Given the description of an element on the screen output the (x, y) to click on. 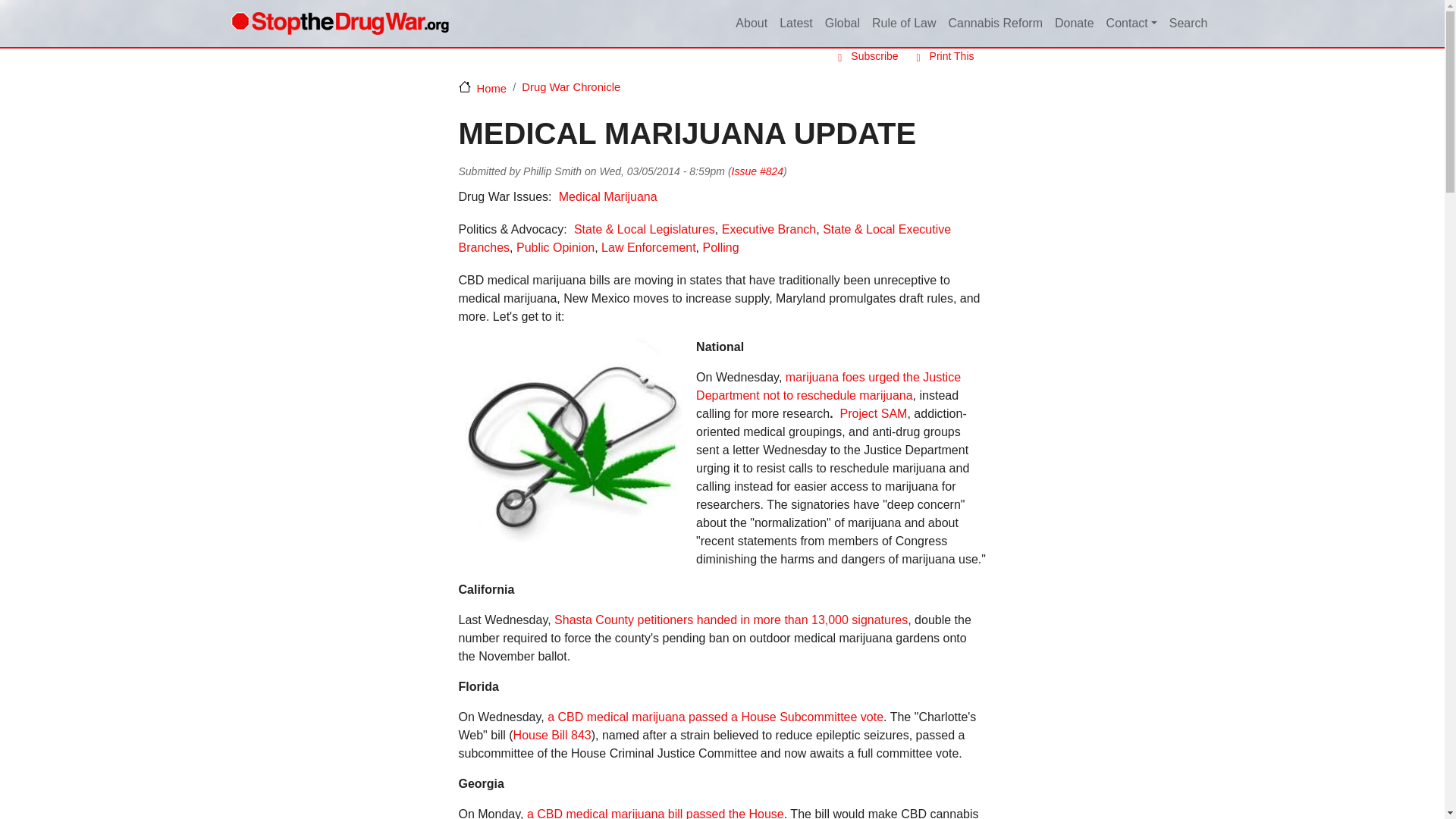
Please Support Our Work (1074, 23)
Cannabis Reform (995, 23)
Public Opinion (555, 246)
Subscribe (864, 55)
Drug War Chronicle (570, 87)
Latest (795, 23)
Wednesday, March 5, 2014 - 8:59pm (661, 171)
Rule of Law (904, 23)
